Given the description of an element on the screen output the (x, y) to click on. 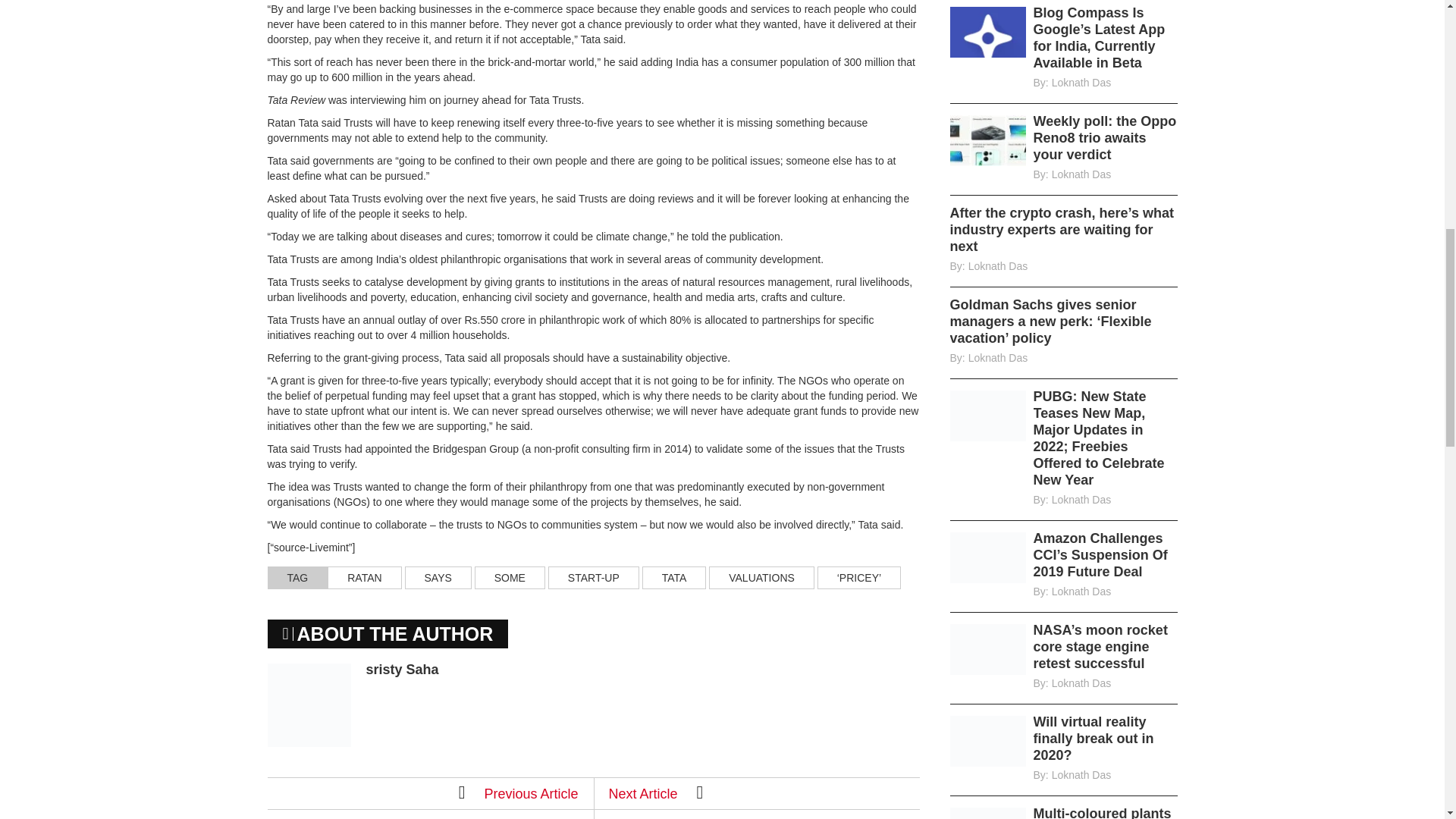
Posts by Loknath Das (997, 357)
Posts by Loknath Das (1081, 499)
Previous Article (518, 791)
SAYS (437, 577)
START-UP (593, 577)
Posts by sristy Saha (401, 669)
RATAN (364, 577)
sristy Saha (401, 669)
TATA (674, 577)
Posts by Loknath Das (997, 265)
Posts by Loknath Das (1081, 82)
VALUATIONS (761, 577)
SOME (509, 577)
Posts by Loknath Das (1081, 174)
